Given the description of an element on the screen output the (x, y) to click on. 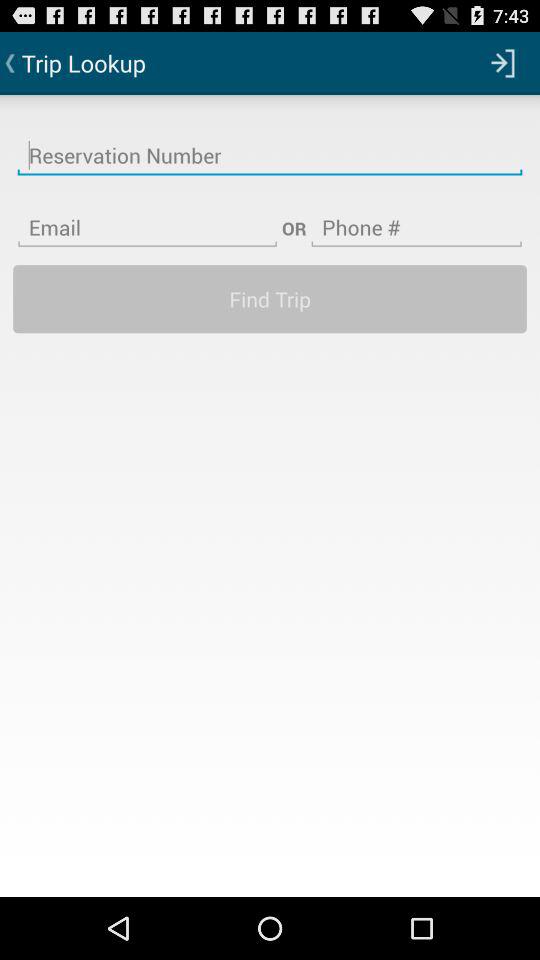
tap the icon to the right of the or icon (416, 215)
